Given the description of an element on the screen output the (x, y) to click on. 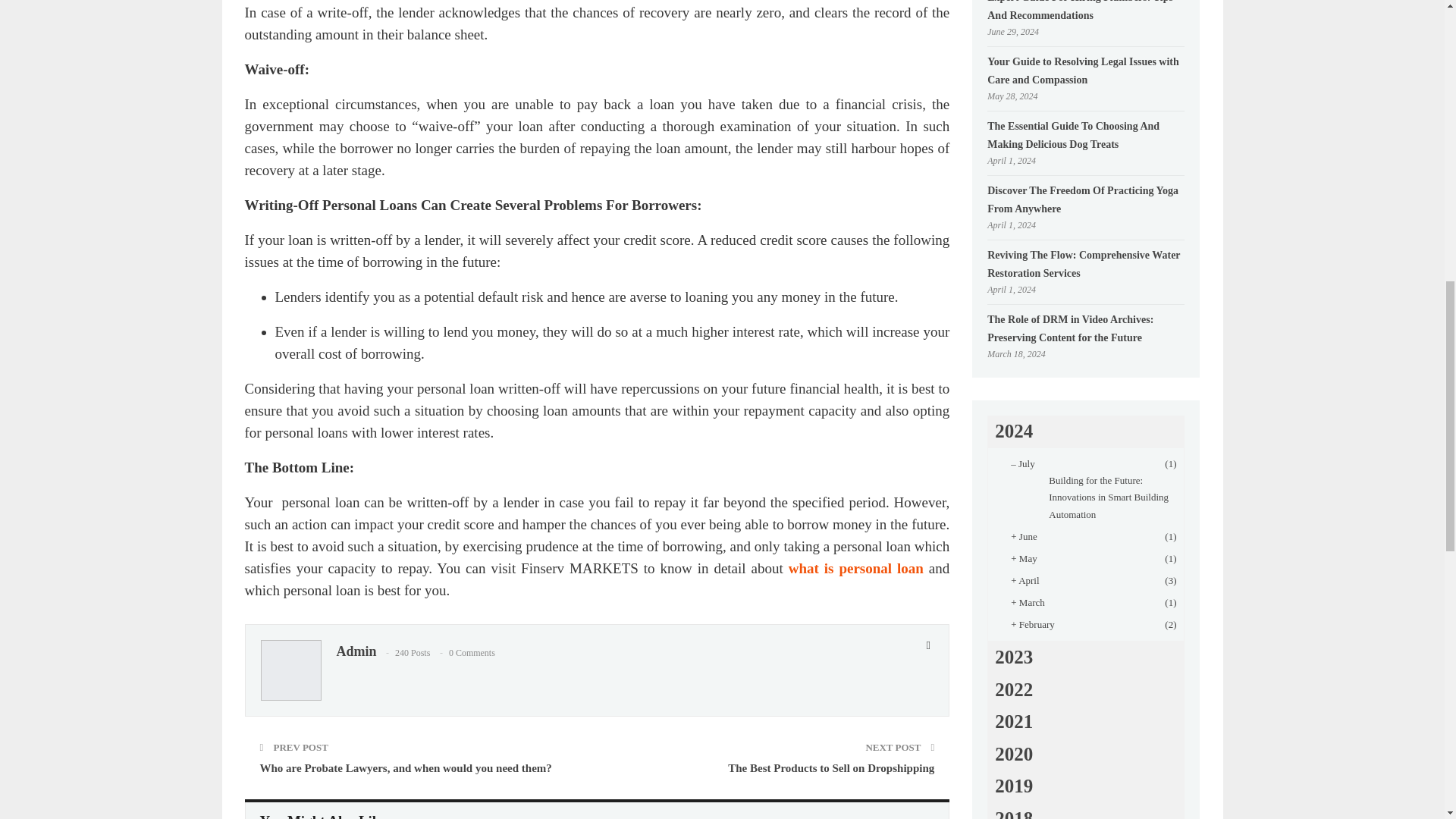
The Best Products to Sell on Dropshipping (831, 767)
Admin (356, 651)
You Might Also Like (322, 816)
what is personal loan (856, 568)
Who are Probate Lawyers, and when would you need them? (405, 767)
